Given the description of an element on the screen output the (x, y) to click on. 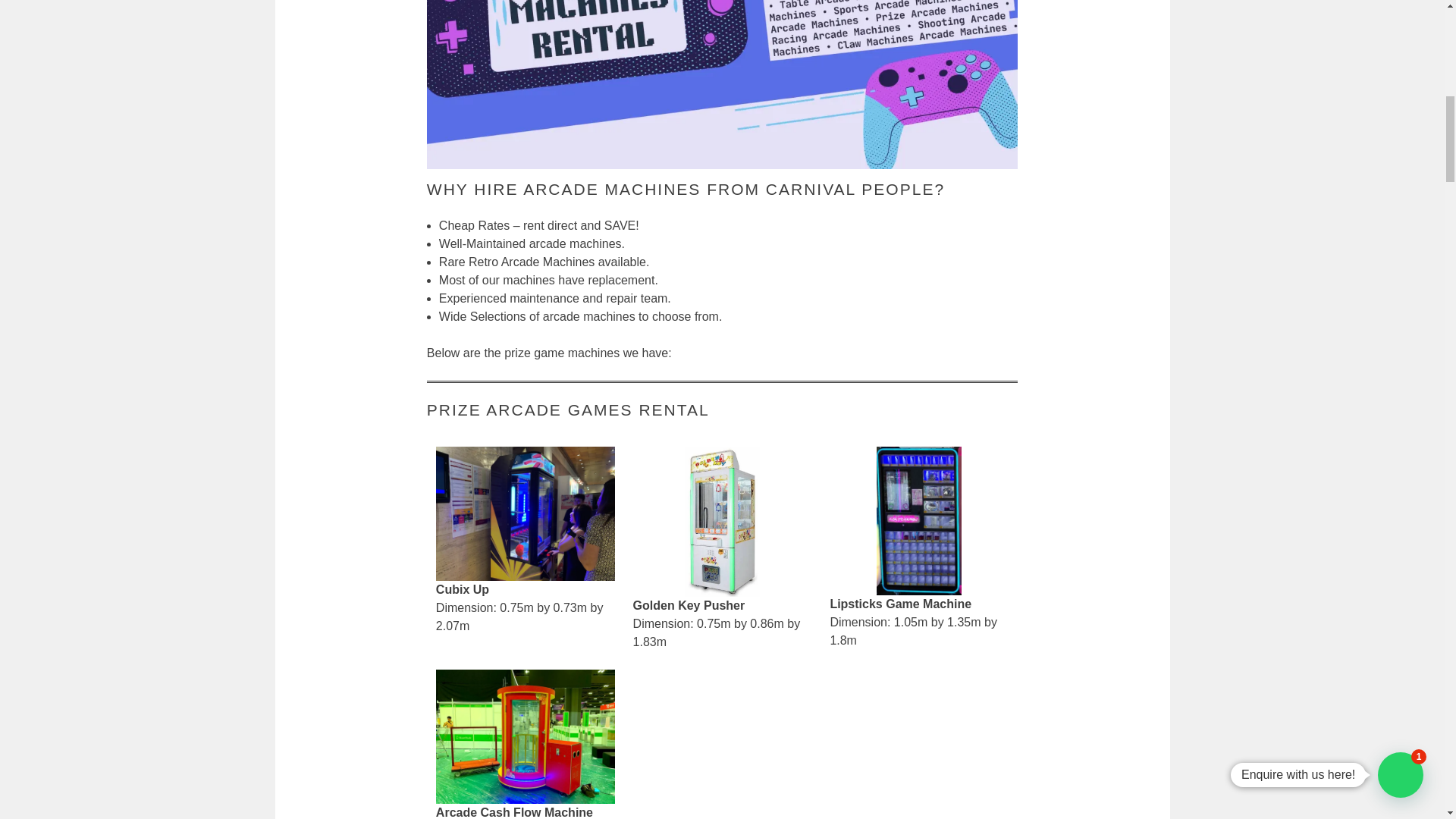
Prize Arcade Games Rental Singapore 3 (524, 513)
Prize Arcade Games Rental Singapore 2 (721, 84)
